Given the description of an element on the screen output the (x, y) to click on. 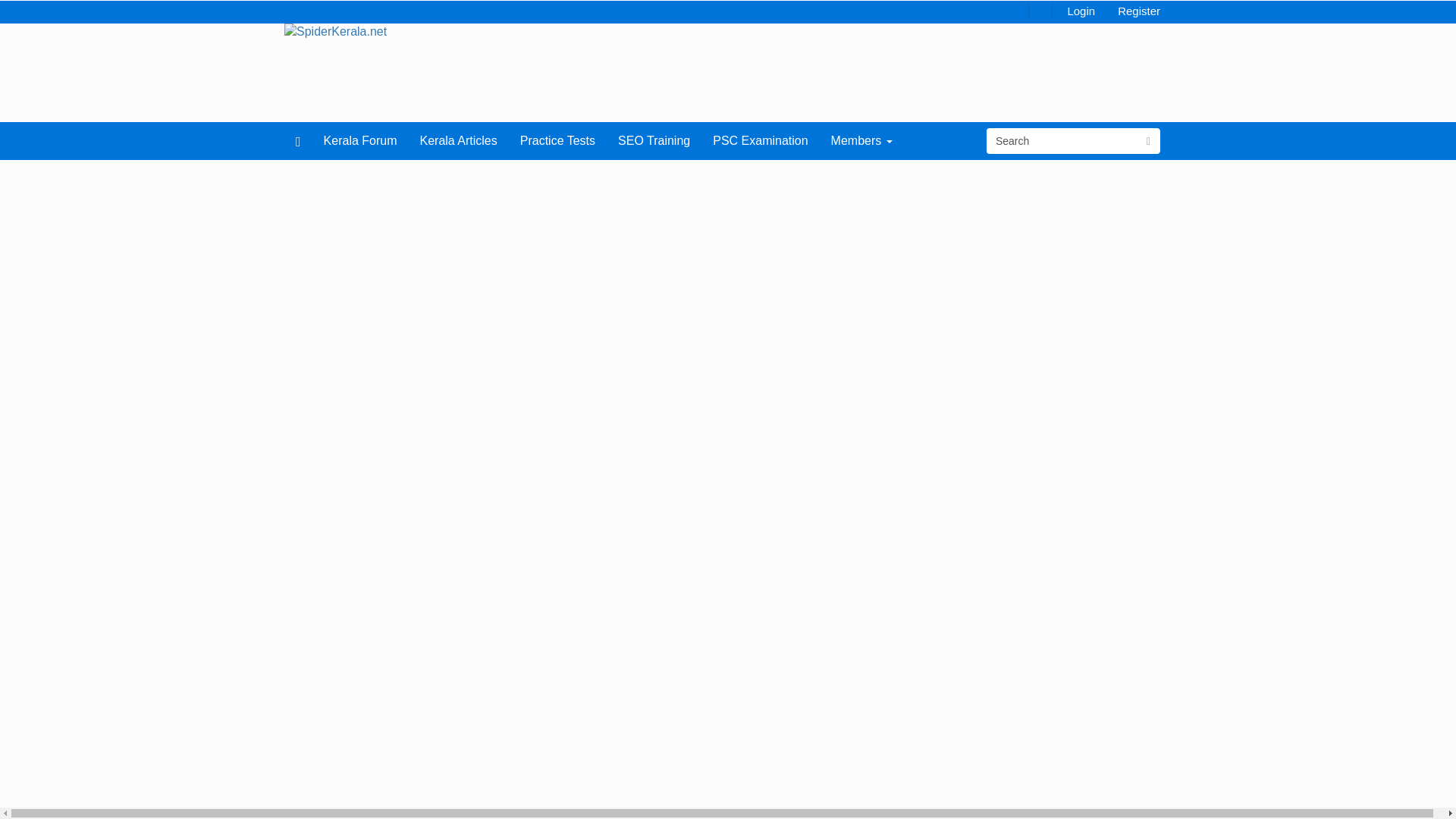
Kerala Forum (361, 140)
SpiderKerala.net (335, 31)
Practice Tests (557, 140)
Login (1080, 9)
SEO Training (654, 140)
Search (1062, 140)
Kerala Articles (457, 140)
Members (861, 140)
Register (1139, 9)
PSC Examination (759, 140)
